Given the description of an element on the screen output the (x, y) to click on. 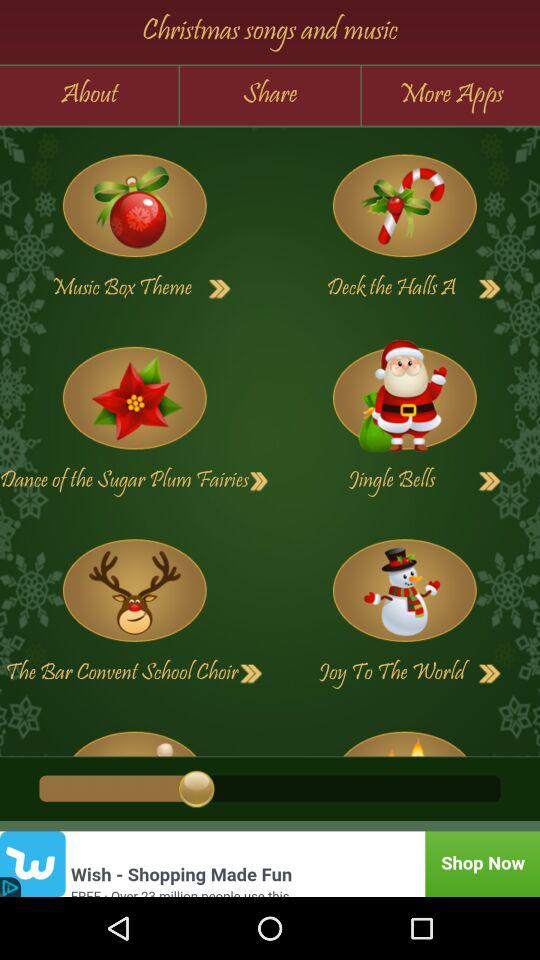
play jingle bells (404, 398)
